Given the description of an element on the screen output the (x, y) to click on. 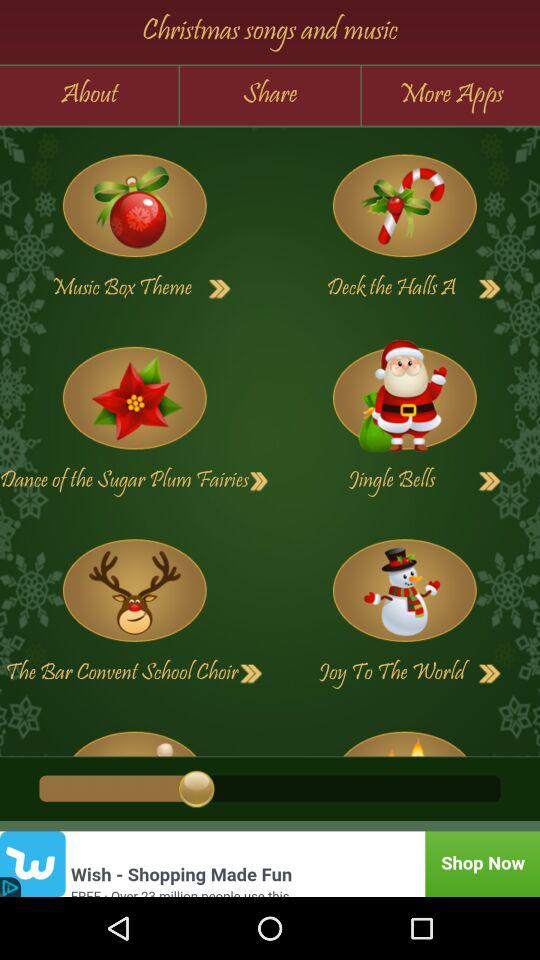
play jingle bells (404, 398)
